Given the description of an element on the screen output the (x, y) to click on. 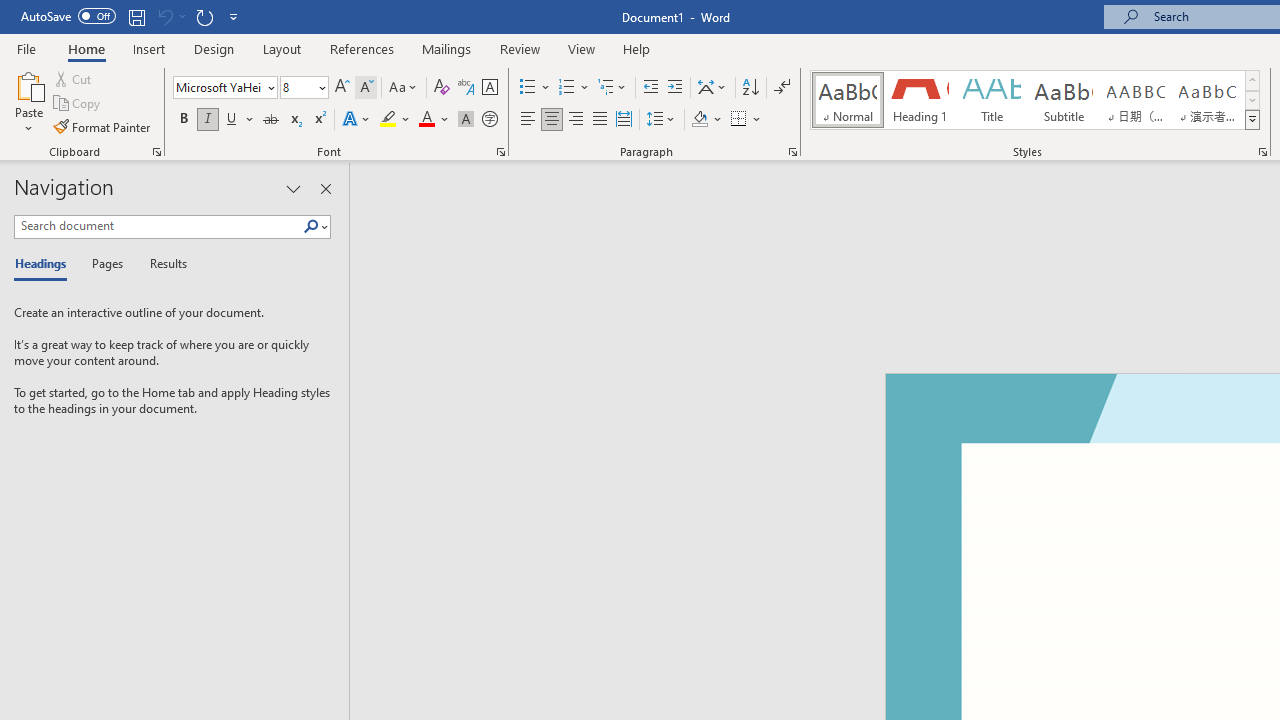
AutoSave (68, 16)
Copy (78, 103)
More Options (757, 119)
Home (86, 48)
Text Effects and Typography (357, 119)
Bullets (535, 87)
Font (218, 87)
Quick Access Toolbar (131, 16)
Font... (500, 151)
Show/Hide Editing Marks (781, 87)
Superscript (319, 119)
Review (520, 48)
Strikethrough (270, 119)
View (582, 48)
Change Case (404, 87)
